Given the description of an element on the screen output the (x, y) to click on. 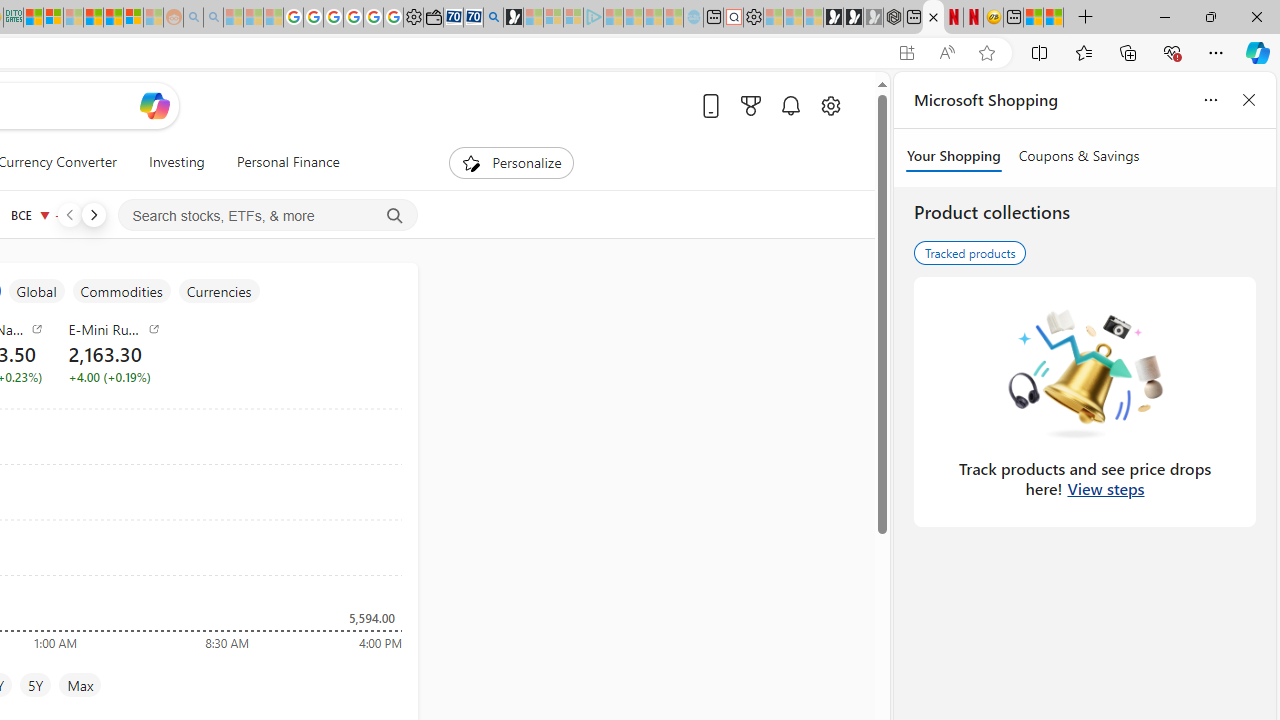
Personal Finance (287, 162)
item3 (36, 291)
App available. Install Start Money (906, 53)
Next (93, 214)
Investing (176, 162)
